Given the description of an element on the screen output the (x, y) to click on. 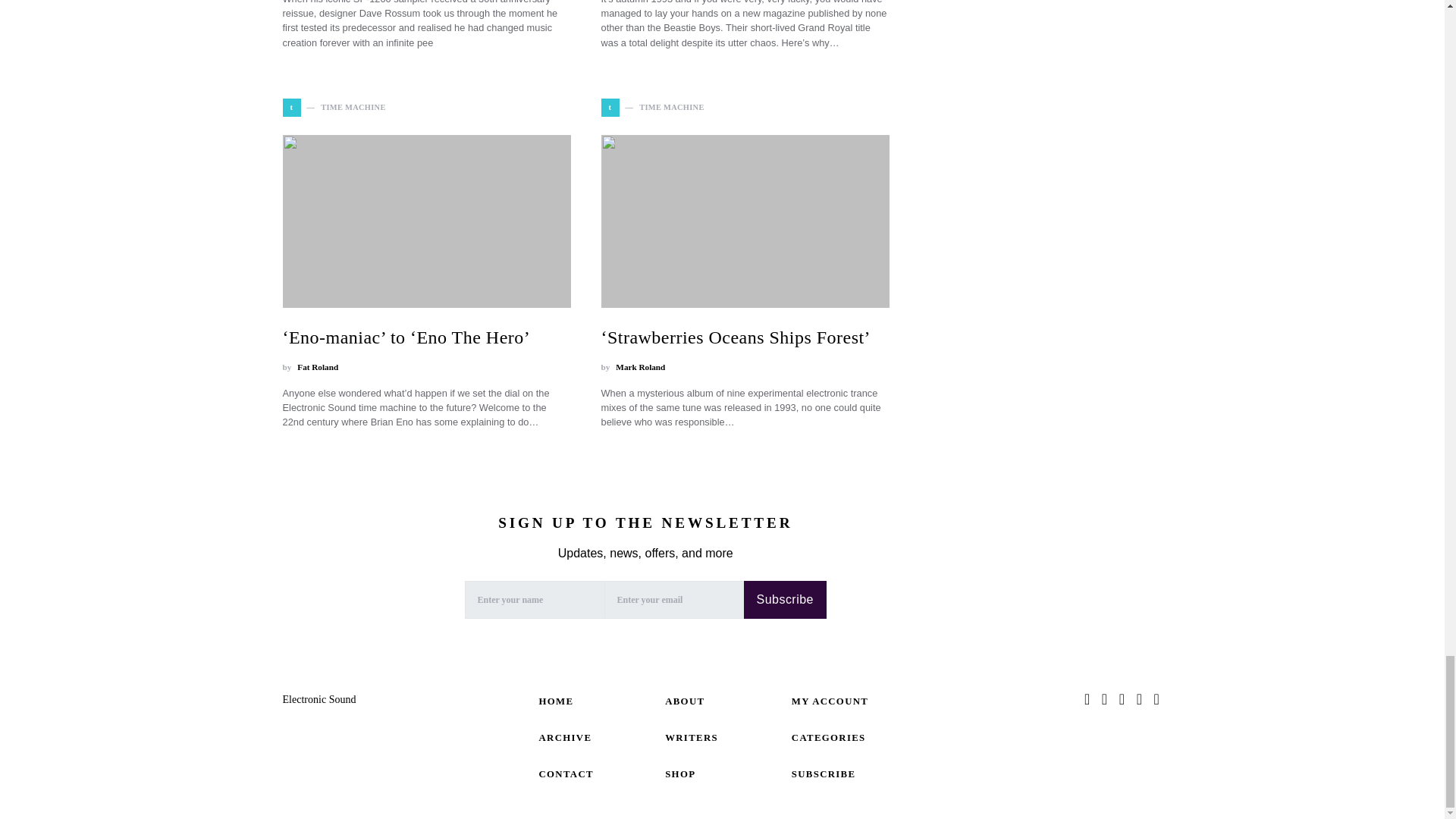
View all posts by Mark Roland (640, 367)
View all posts by Fat Roland (317, 367)
